Given the description of an element on the screen output the (x, y) to click on. 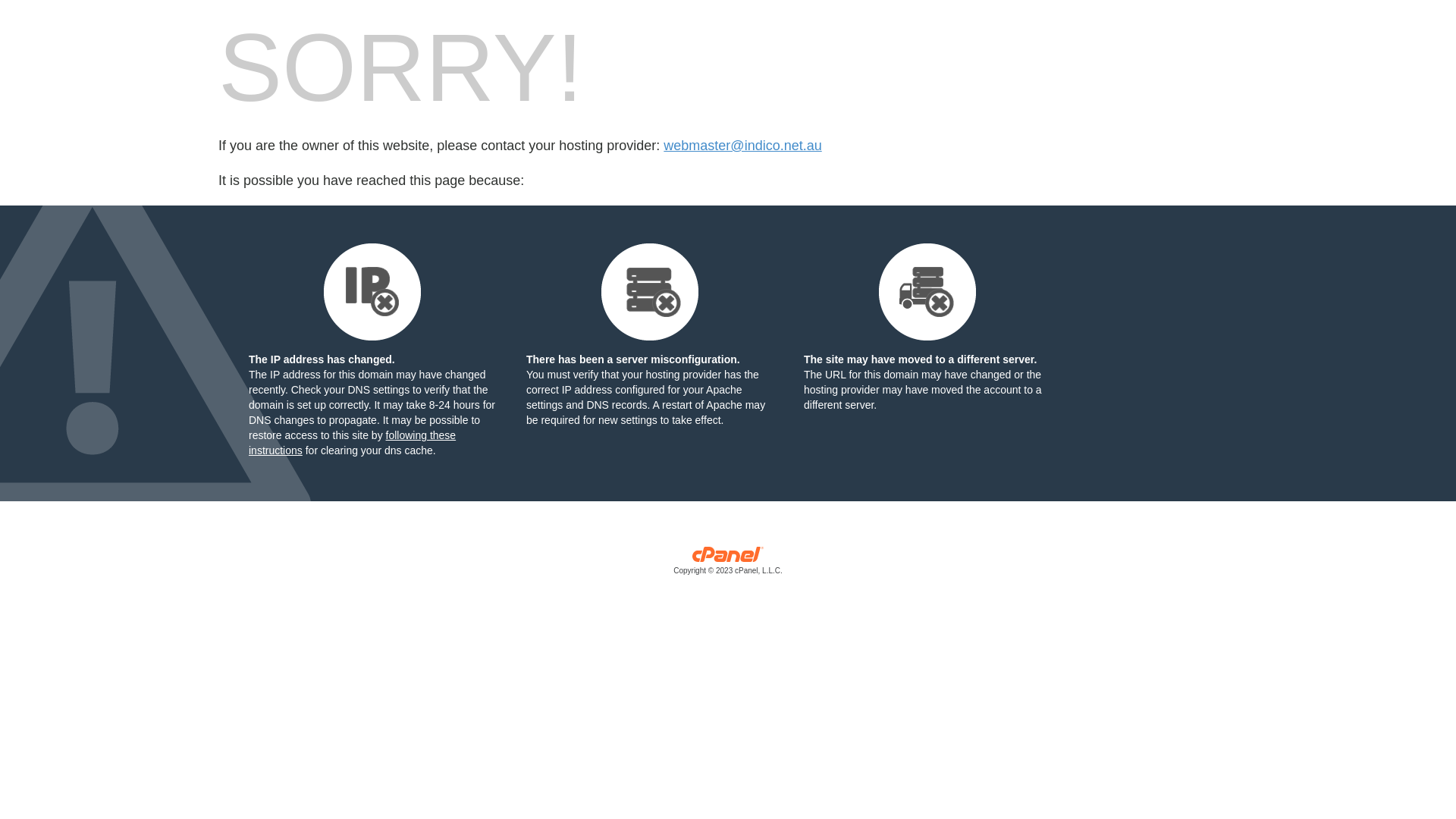
webmaster@indico.net.au Element type: text (742, 145)
following these instructions Element type: text (351, 442)
